Given the description of an element on the screen output the (x, y) to click on. 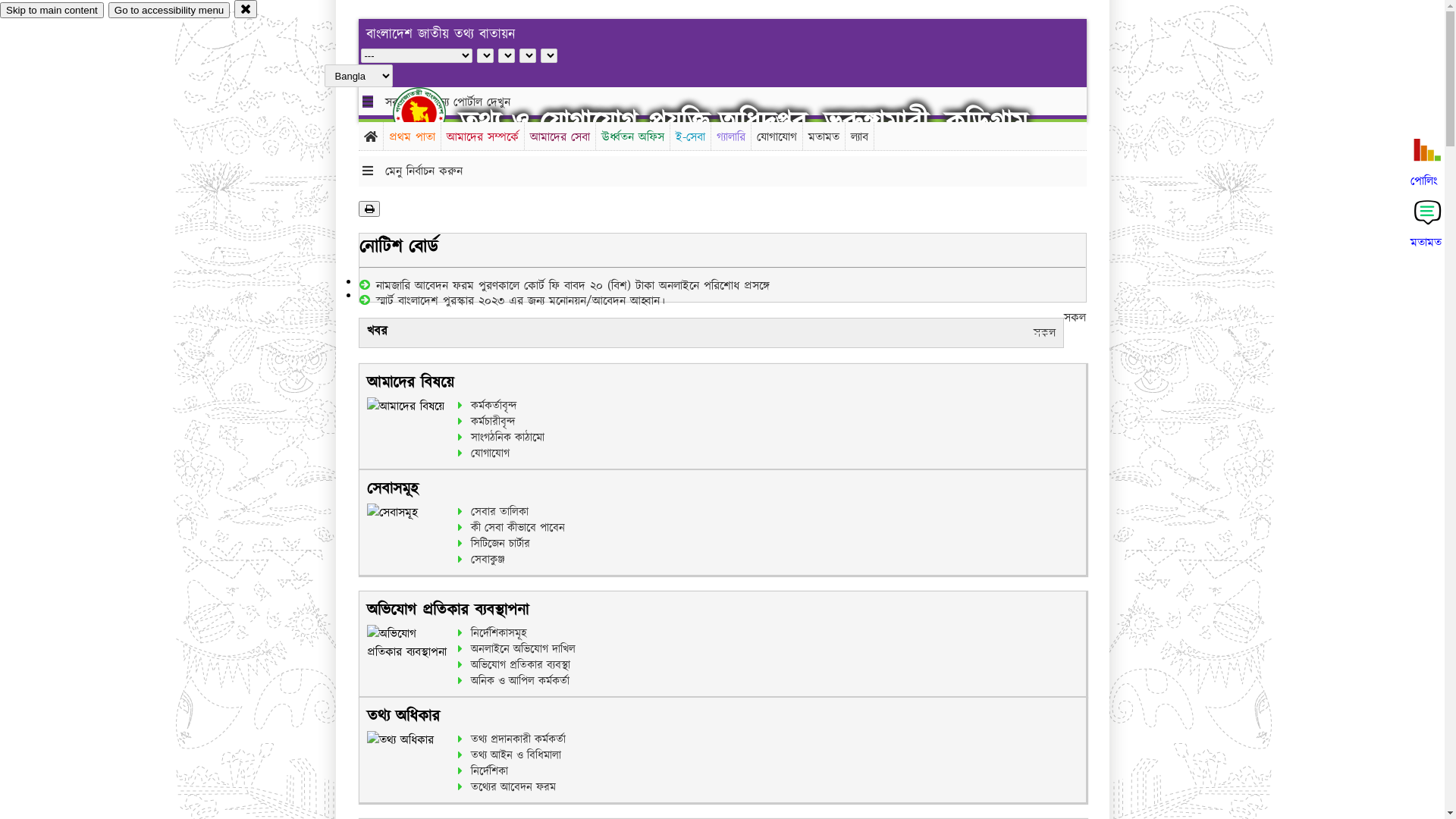
close Element type: hover (245, 9)
Go to accessibility menu Element type: text (168, 10)
Skip to main content Element type: text (51, 10)

                
             Element type: hover (431, 112)
